Given the description of an element on the screen output the (x, y) to click on. 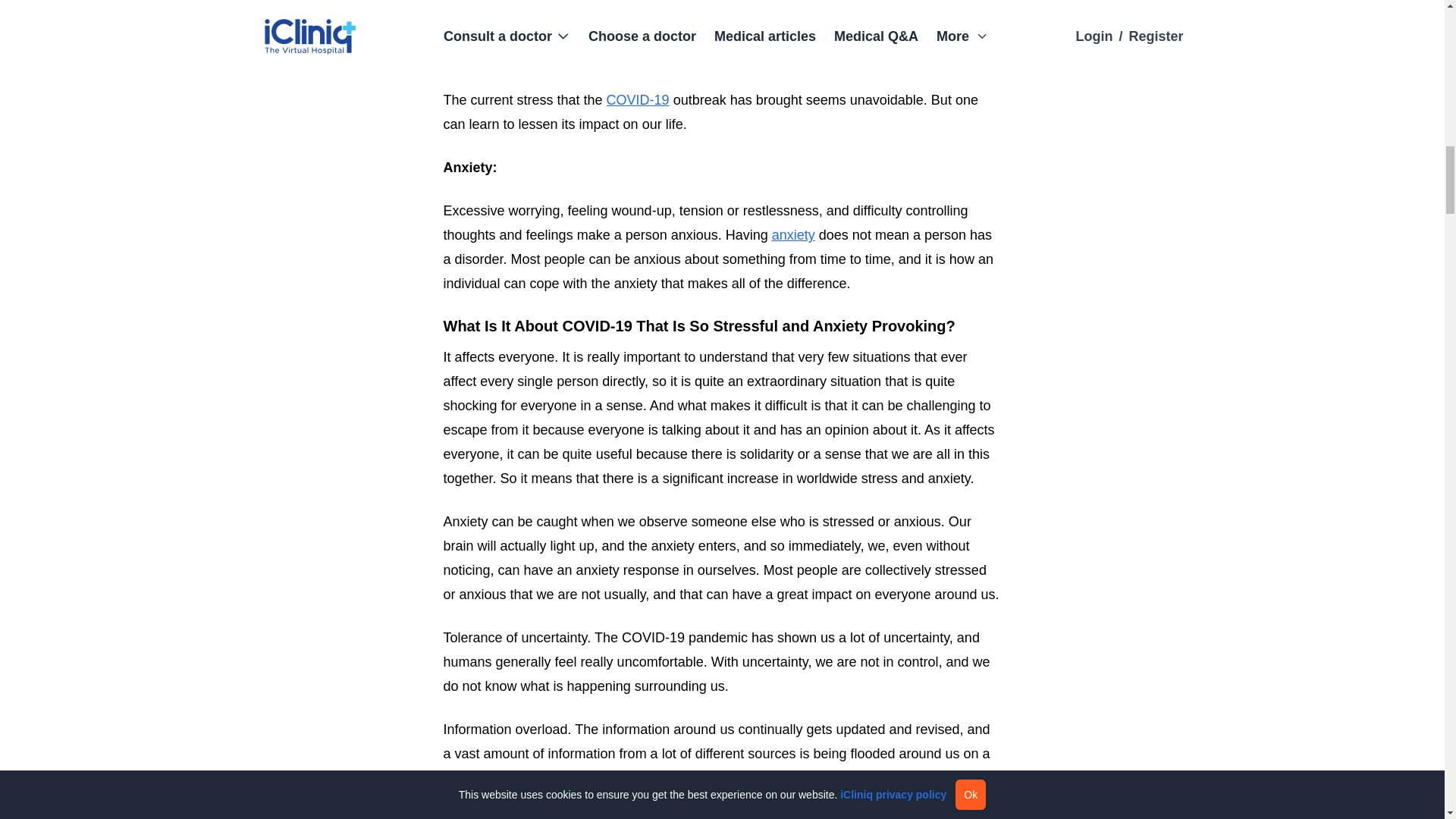
Covid-19 (638, 99)
